Given the description of an element on the screen output the (x, y) to click on. 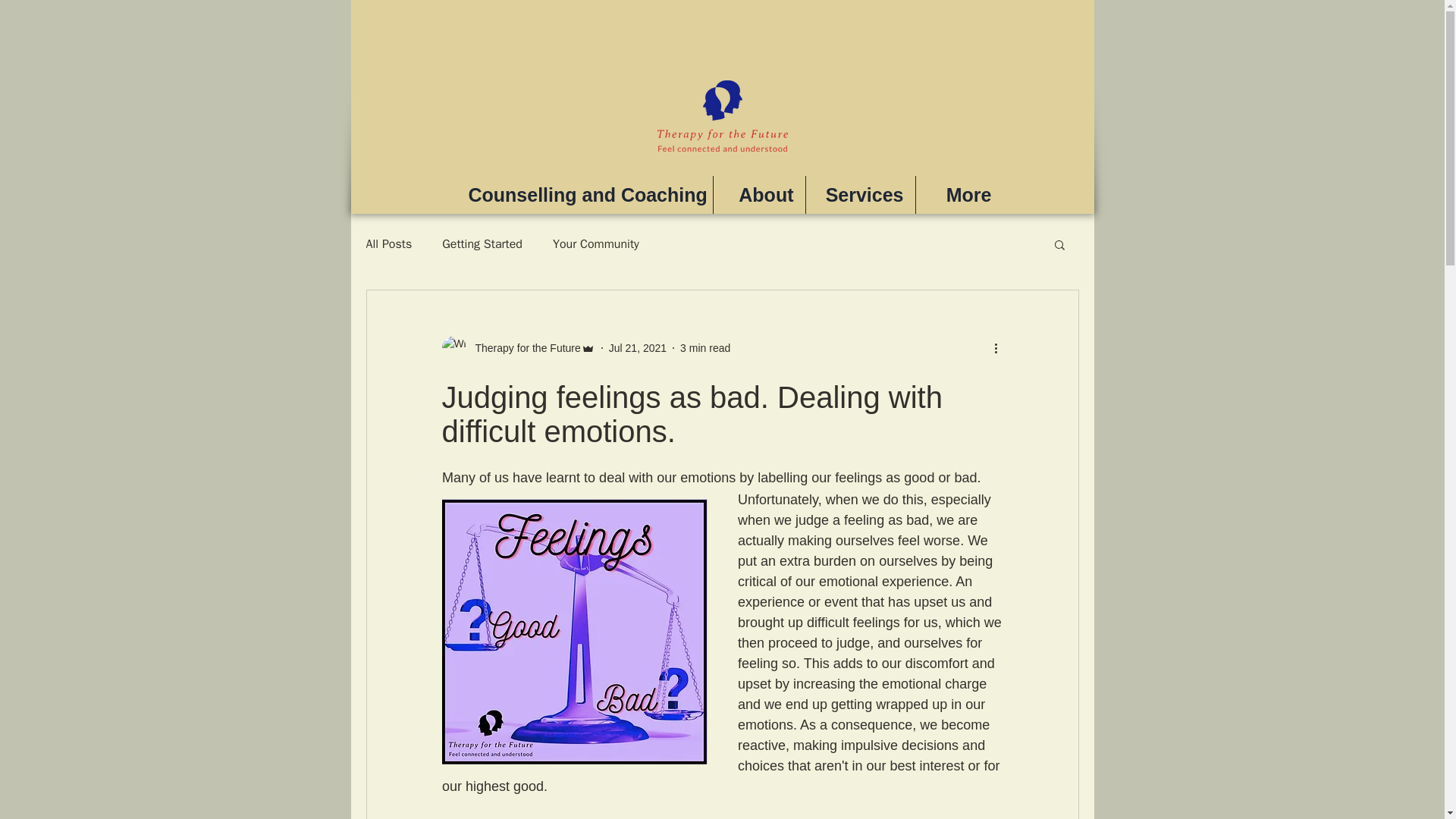
Counselling and Coaching (584, 194)
3 min read (704, 346)
Therapy for the Future (517, 347)
Your Community (596, 244)
All Posts (388, 244)
Therapy for the Future  (522, 347)
Getting Started (482, 244)
Jul 21, 2021 (637, 346)
About (759, 194)
Services (859, 194)
